Given the description of an element on the screen output the (x, y) to click on. 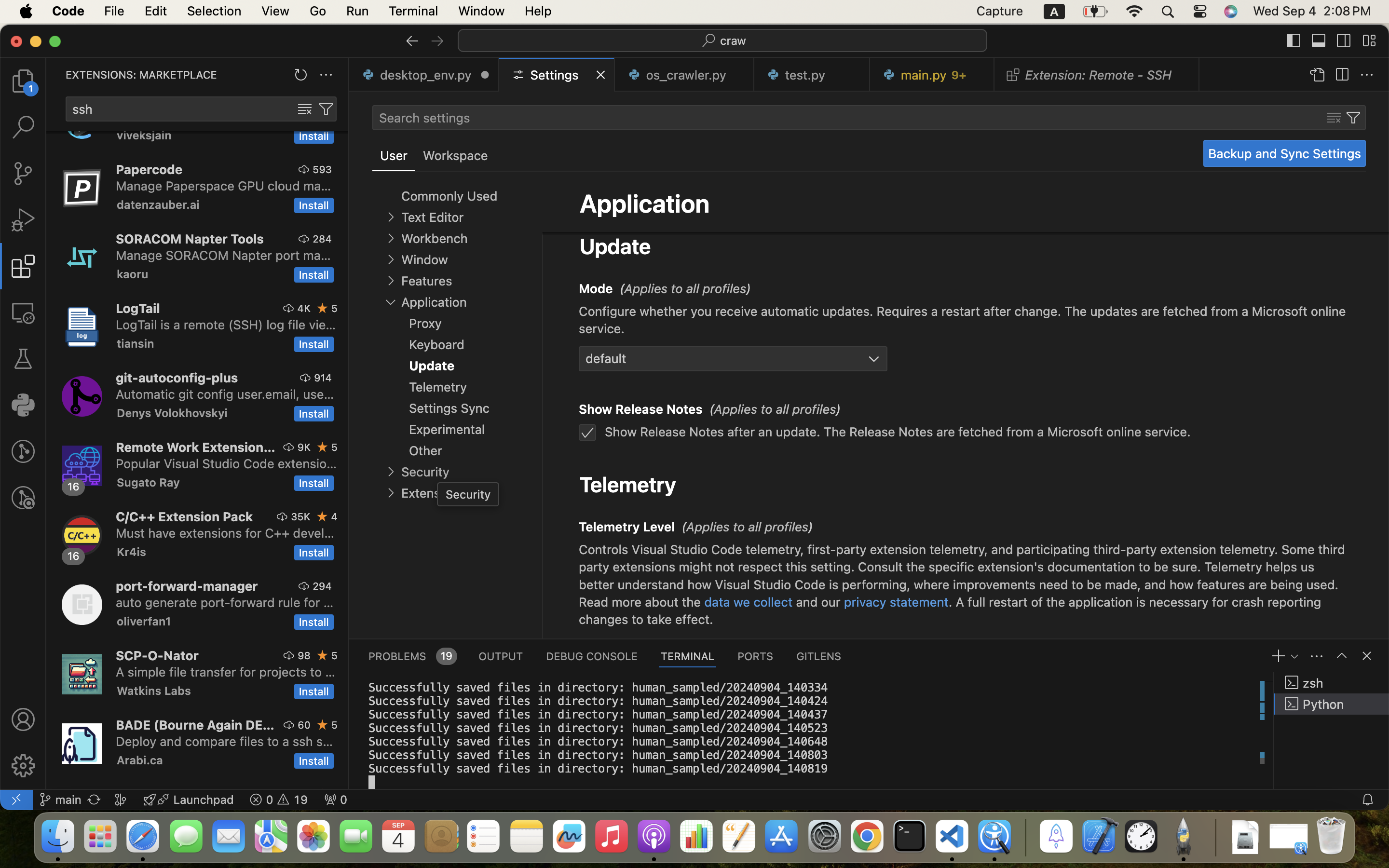
0  Element type: AXRadioButton (23, 358)
 Element type: AXGroup (23, 219)
Telemetry Level Element type: AXStaticText (626, 526)
Remote Work Extension Pack Element type: AXStaticText (195, 446)
Application Element type: AXStaticText (644, 203)
